Given the description of an element on the screen output the (x, y) to click on. 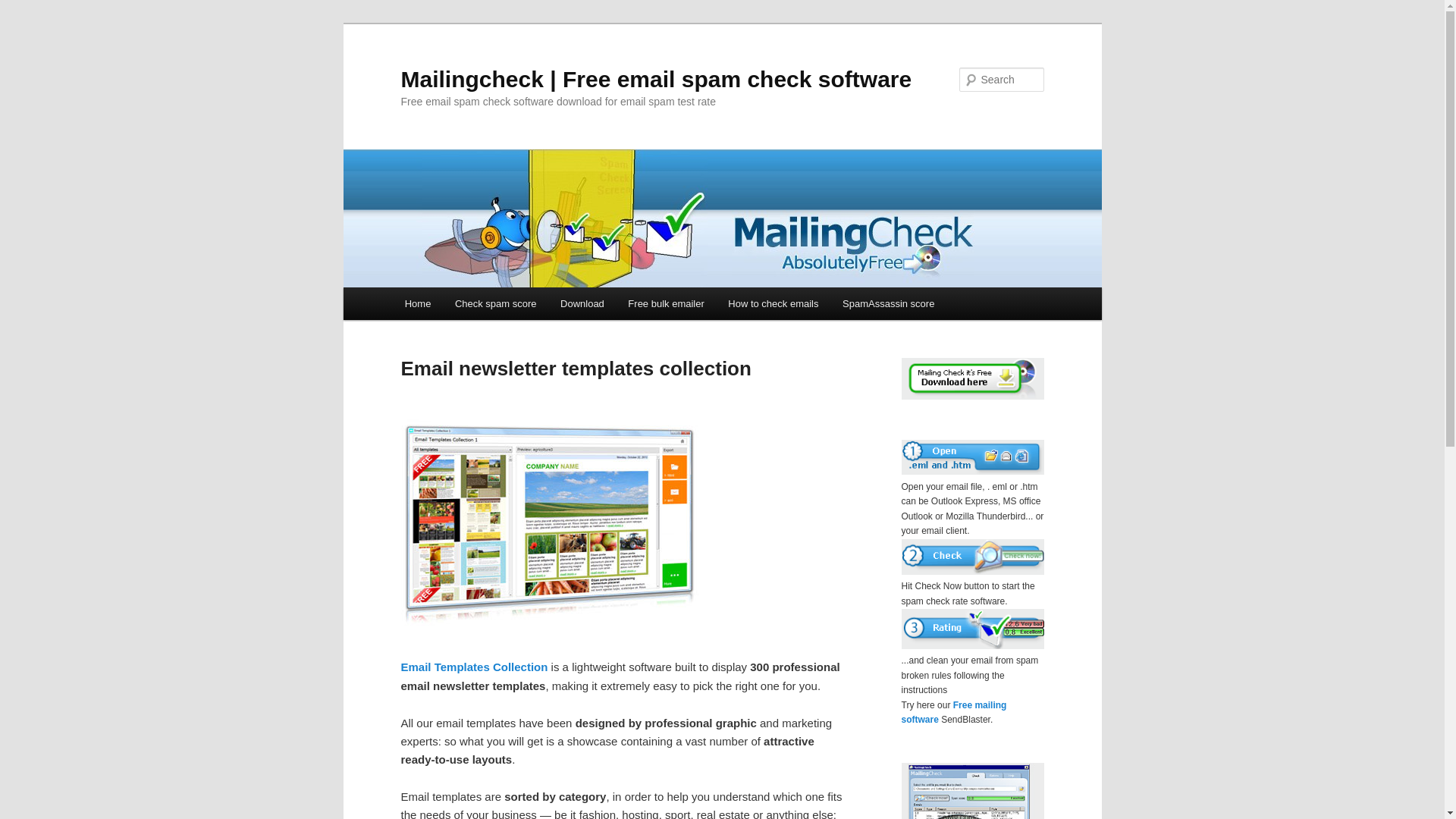
Download the spam check software (972, 396)
Step 3: Clean your email (972, 628)
SpamAssassin score (887, 303)
Check spam score (495, 303)
Step 2: Check your email (972, 556)
Email newsletter template collection (553, 630)
Home (417, 303)
Email newsletter template collection (473, 666)
Free download spam check software (972, 378)
Free bulk emailer (665, 303)
How to check emails (773, 303)
Step 1: Open your email file, can be .htm or .eml (972, 457)
Download (581, 303)
